Given the description of an element on the screen output the (x, y) to click on. 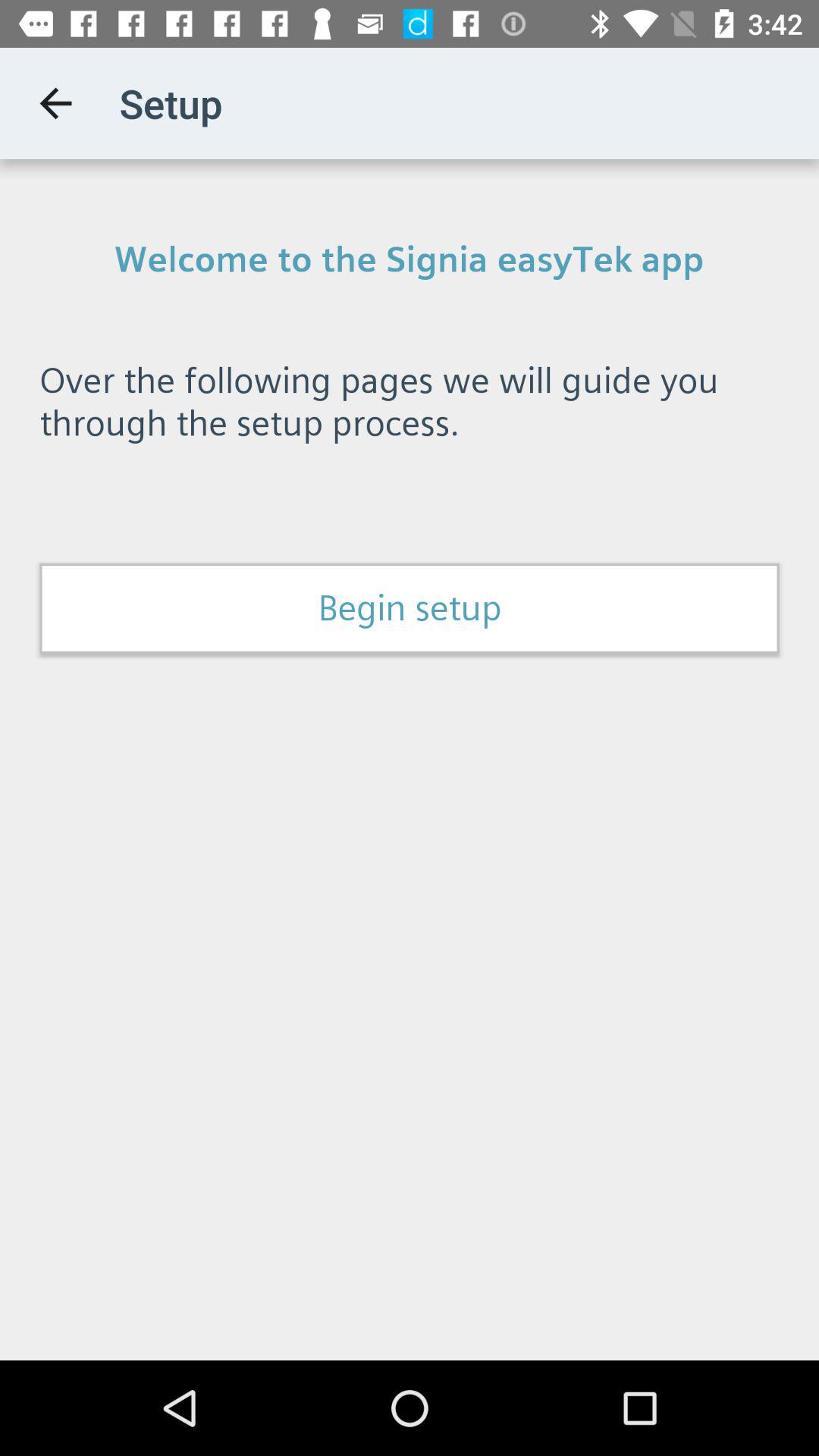
tap item next to the setup (55, 103)
